Given the description of an element on the screen output the (x, y) to click on. 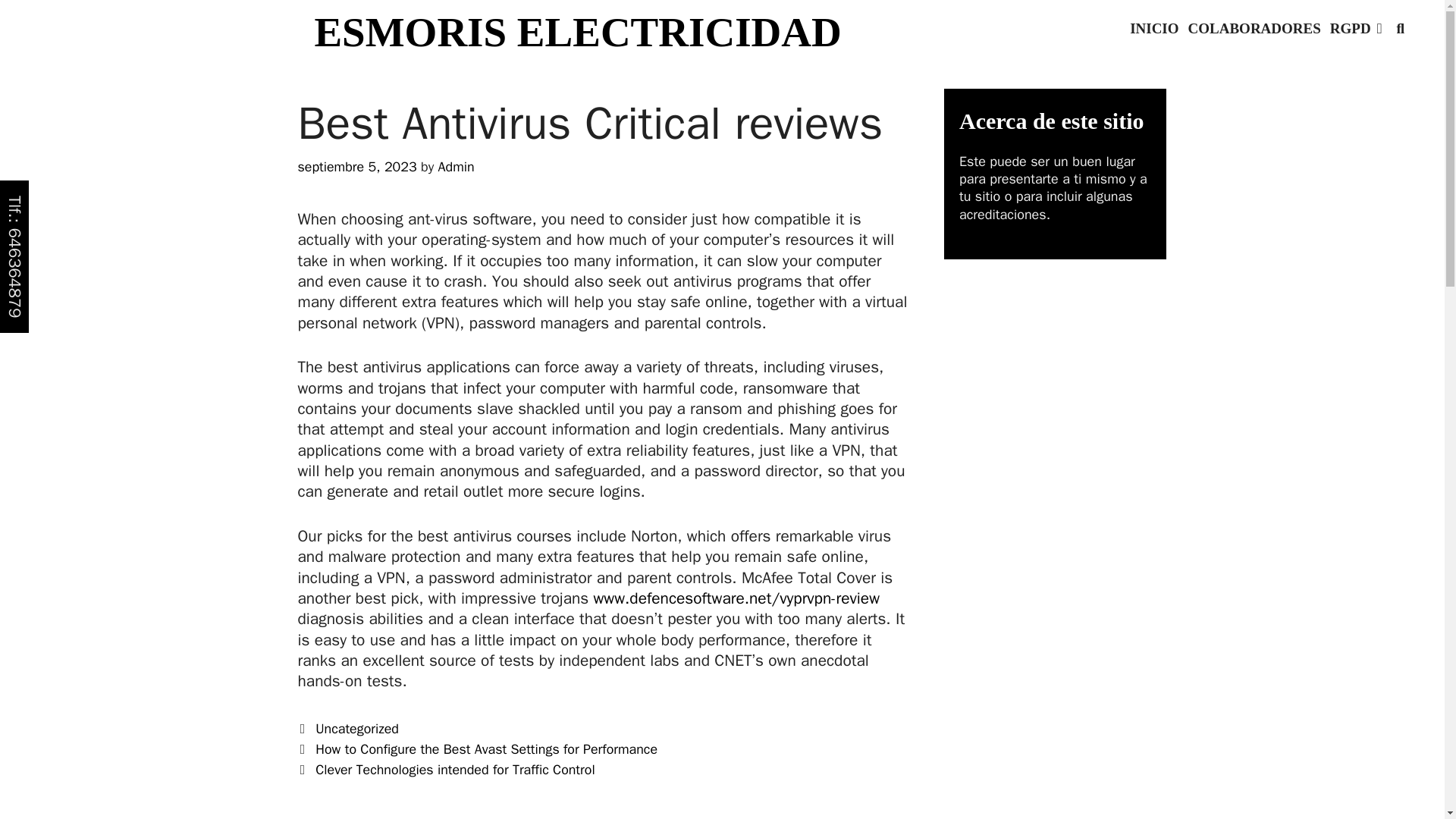
Previous (477, 749)
Next (445, 769)
INICIO (1153, 28)
septiembre 5, 2023 (356, 166)
RGPD (1355, 28)
Admin (456, 166)
View all posts by Admin (456, 166)
12:00 am (356, 166)
